Given the description of an element on the screen output the (x, y) to click on. 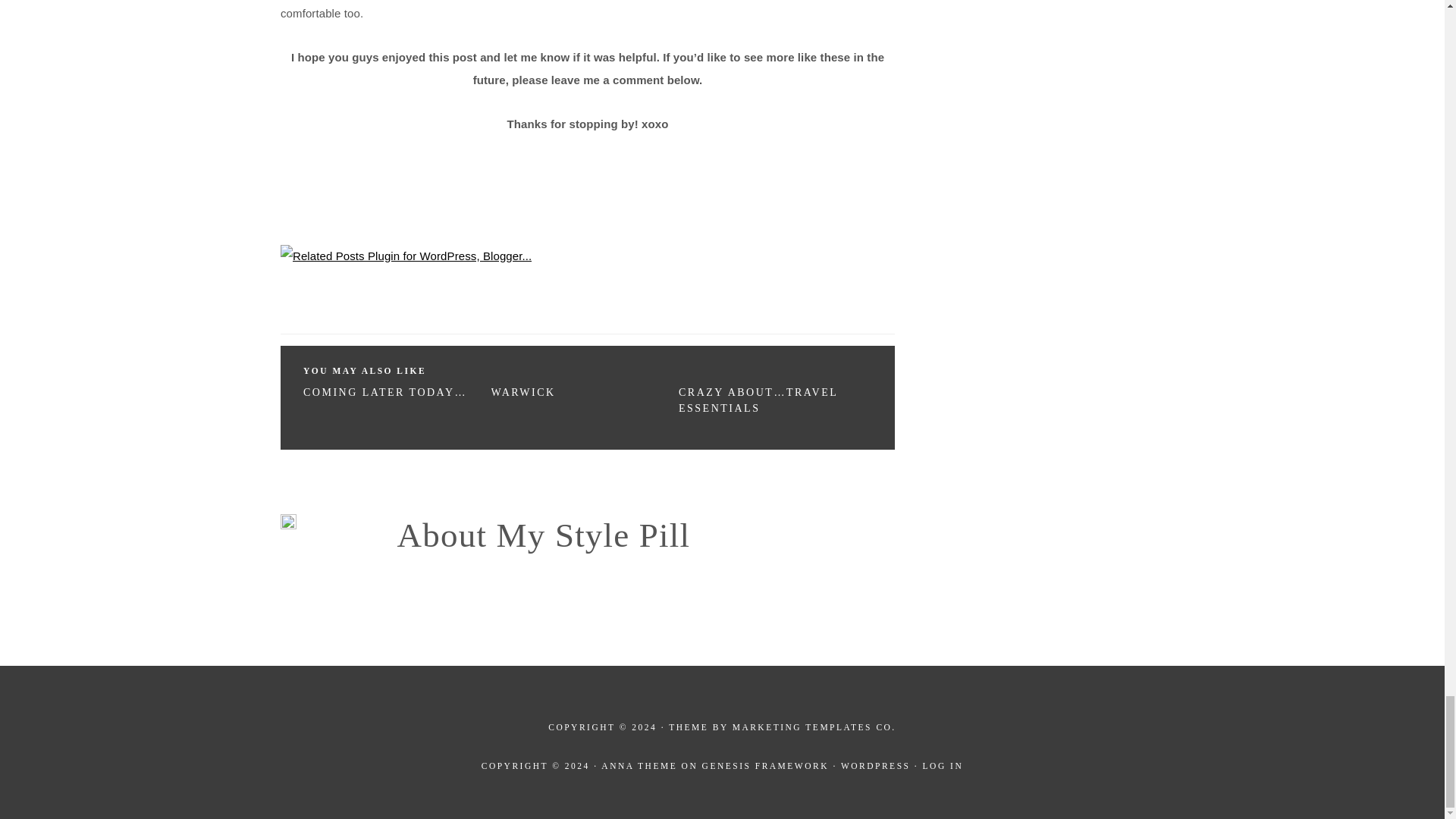
Warwick (524, 392)
